Given the description of an element on the screen output the (x, y) to click on. 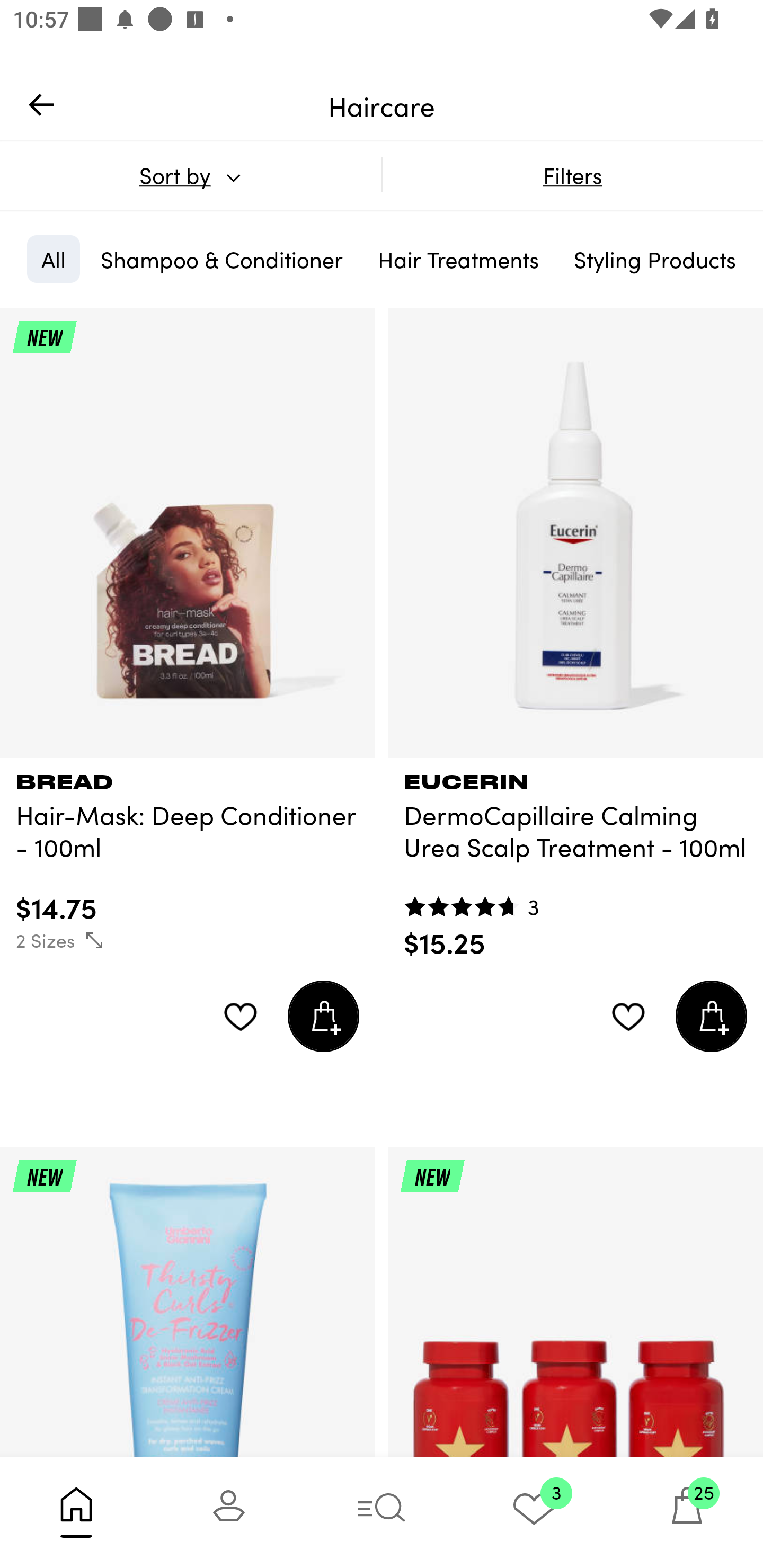
Sort by (190, 174)
Filters (572, 174)
All (53, 258)
Shampoo & Conditioner (221, 258)
Hair Treatments (458, 258)
Styling Products (654, 258)
3 (533, 1512)
25 (686, 1512)
